Given the description of an element on the screen output the (x, y) to click on. 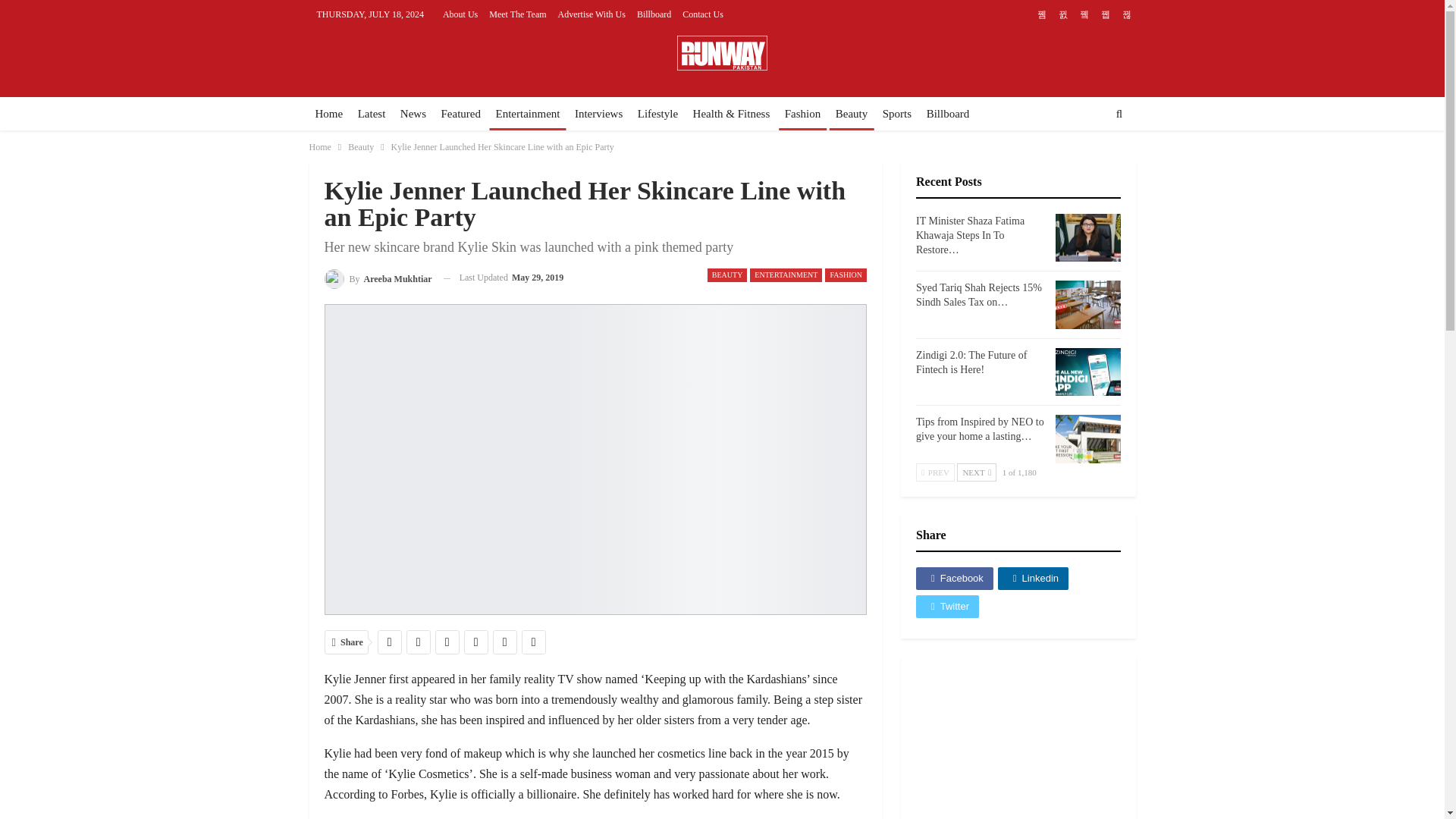
Billboard (654, 14)
About Us (459, 14)
Zindigi 2.0: The Future of Fintech is Here! (970, 362)
Entertainment (527, 113)
Latest (371, 113)
Billboard (947, 113)
FASHION (845, 274)
Home (328, 113)
Meet The Team (517, 14)
Previous (935, 472)
Lifestyle (657, 113)
Home (319, 146)
Next (975, 472)
